Given the description of an element on the screen output the (x, y) to click on. 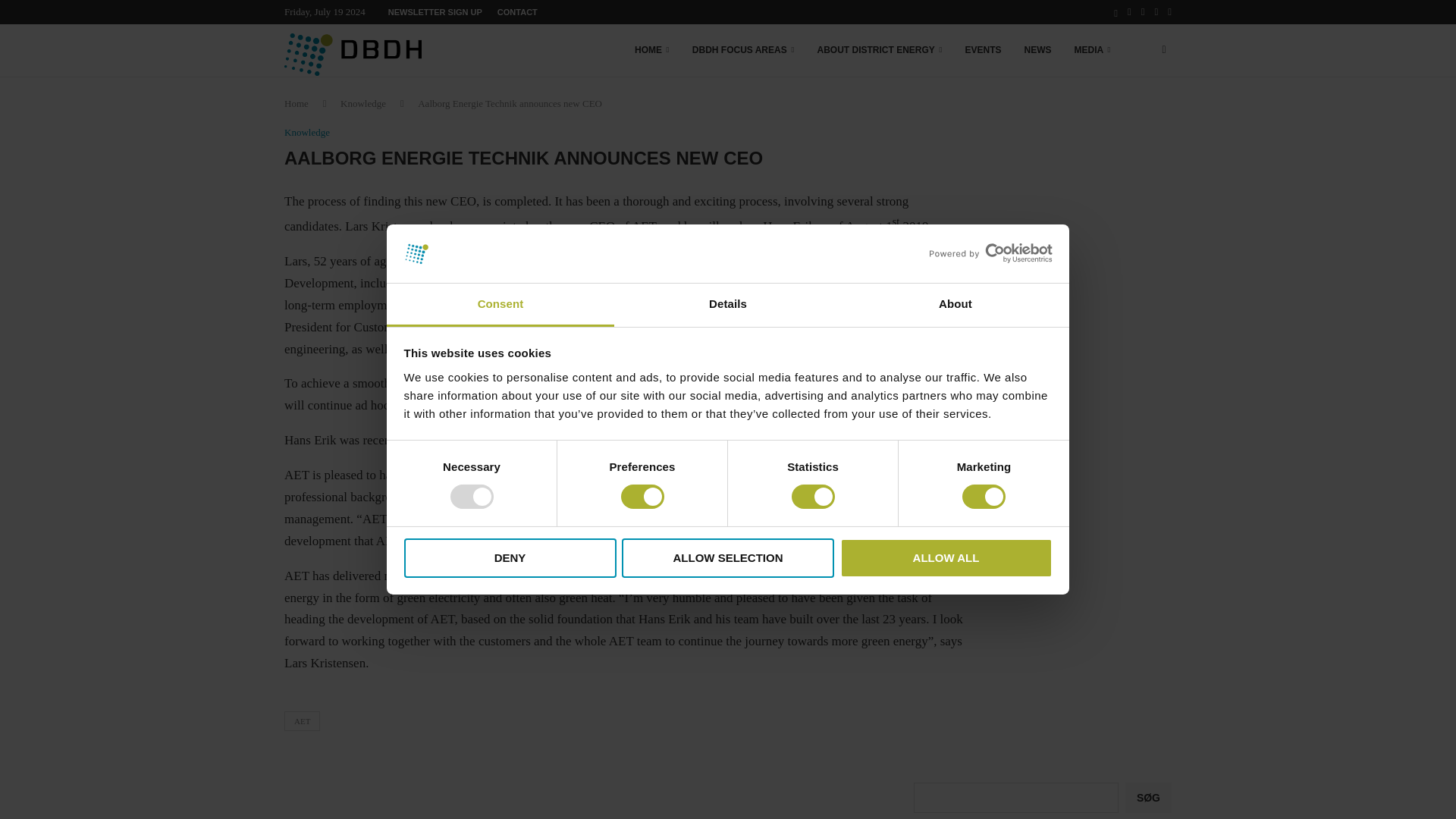
on (471, 496)
ALLOW SELECTION (727, 558)
Details (727, 304)
ALLOW ALL (946, 558)
About (954, 304)
Consent (500, 304)
DENY (509, 558)
